Given the description of an element on the screen output the (x, y) to click on. 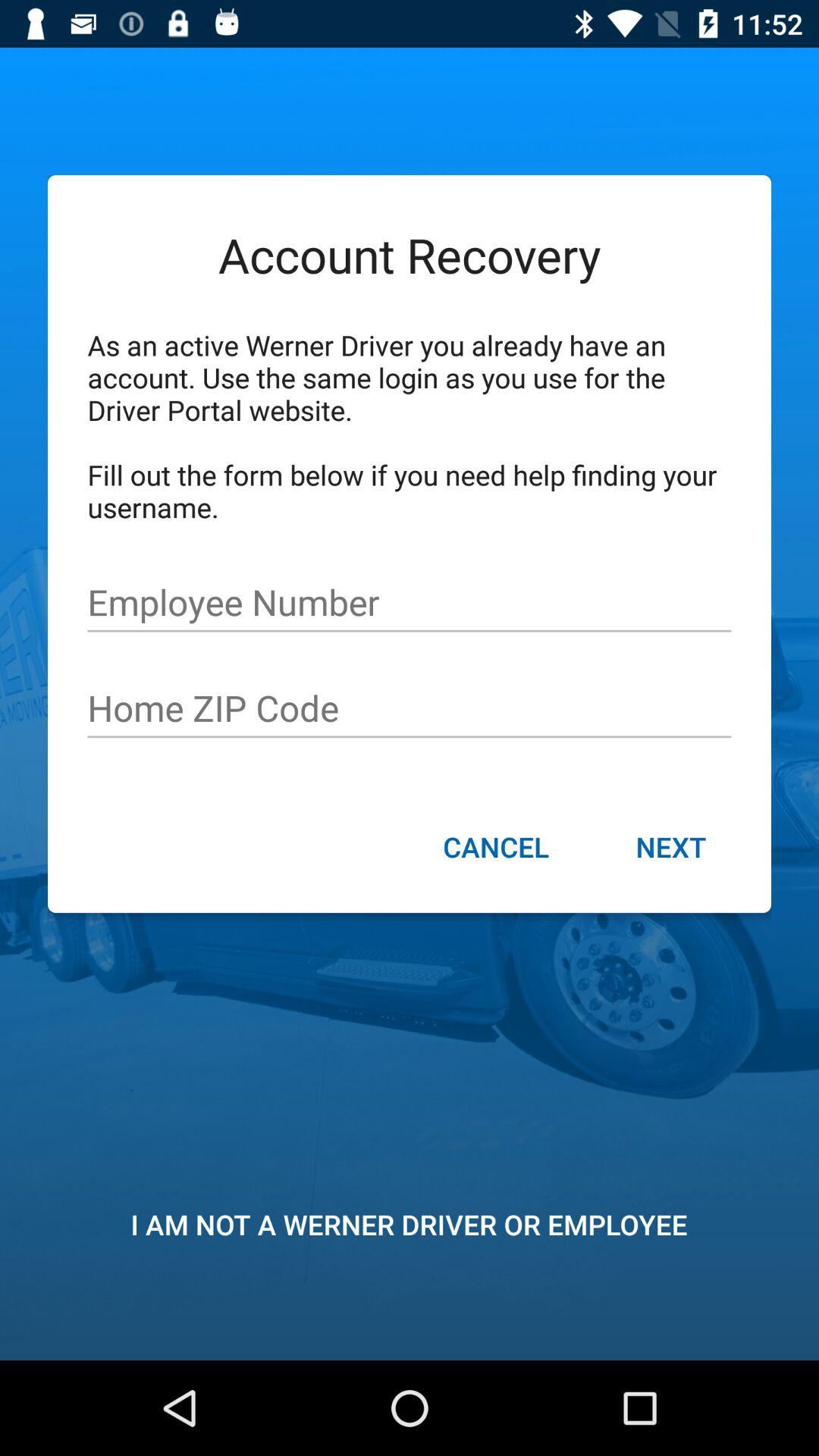
open icon next to the next item (495, 848)
